Given the description of an element on the screen output the (x, y) to click on. 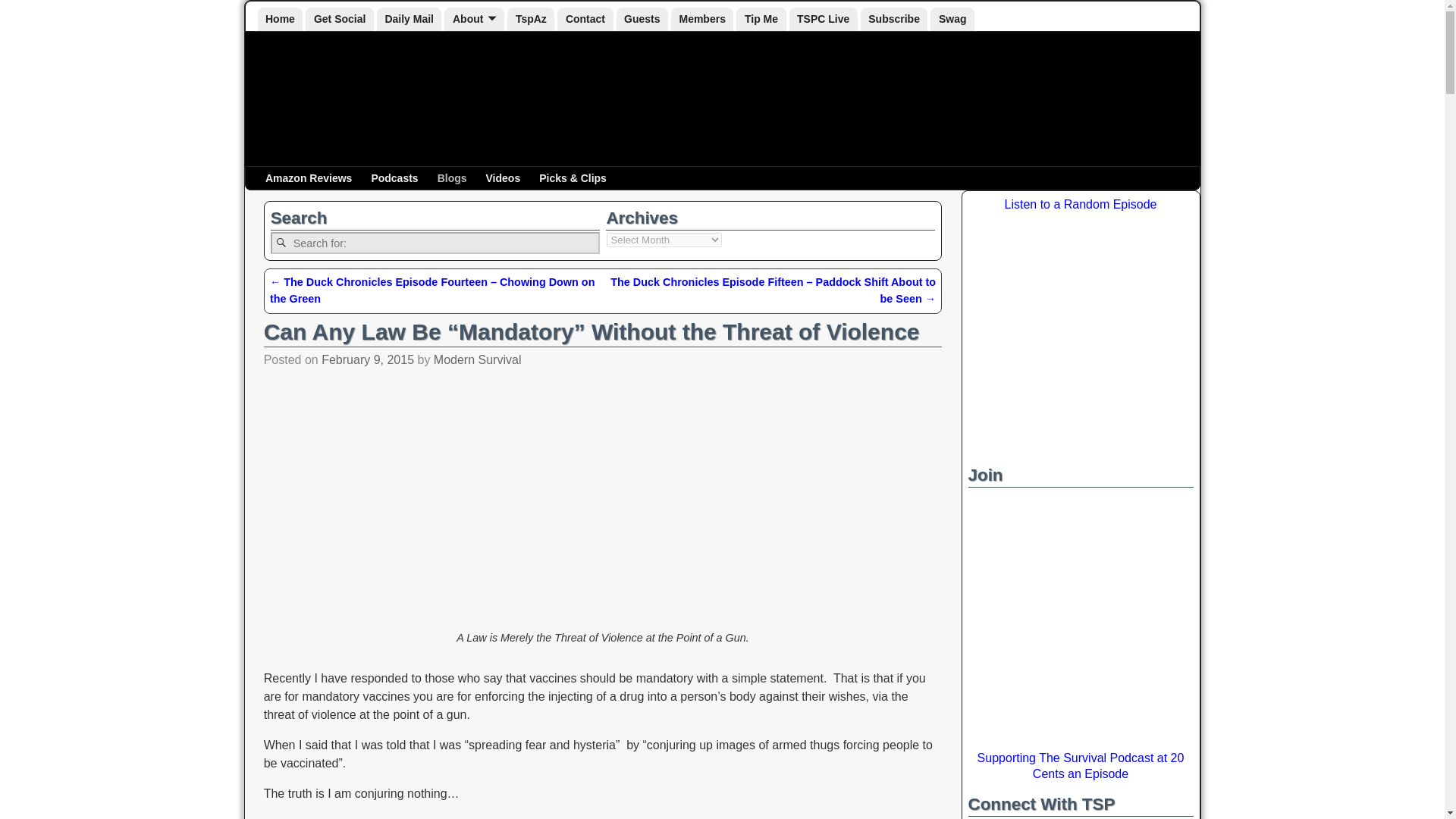
TspAz (530, 19)
Get Social (338, 19)
Tip Me (761, 19)
10:50 am (367, 359)
Members (702, 19)
Guests (640, 19)
